Given the description of an element on the screen output the (x, y) to click on. 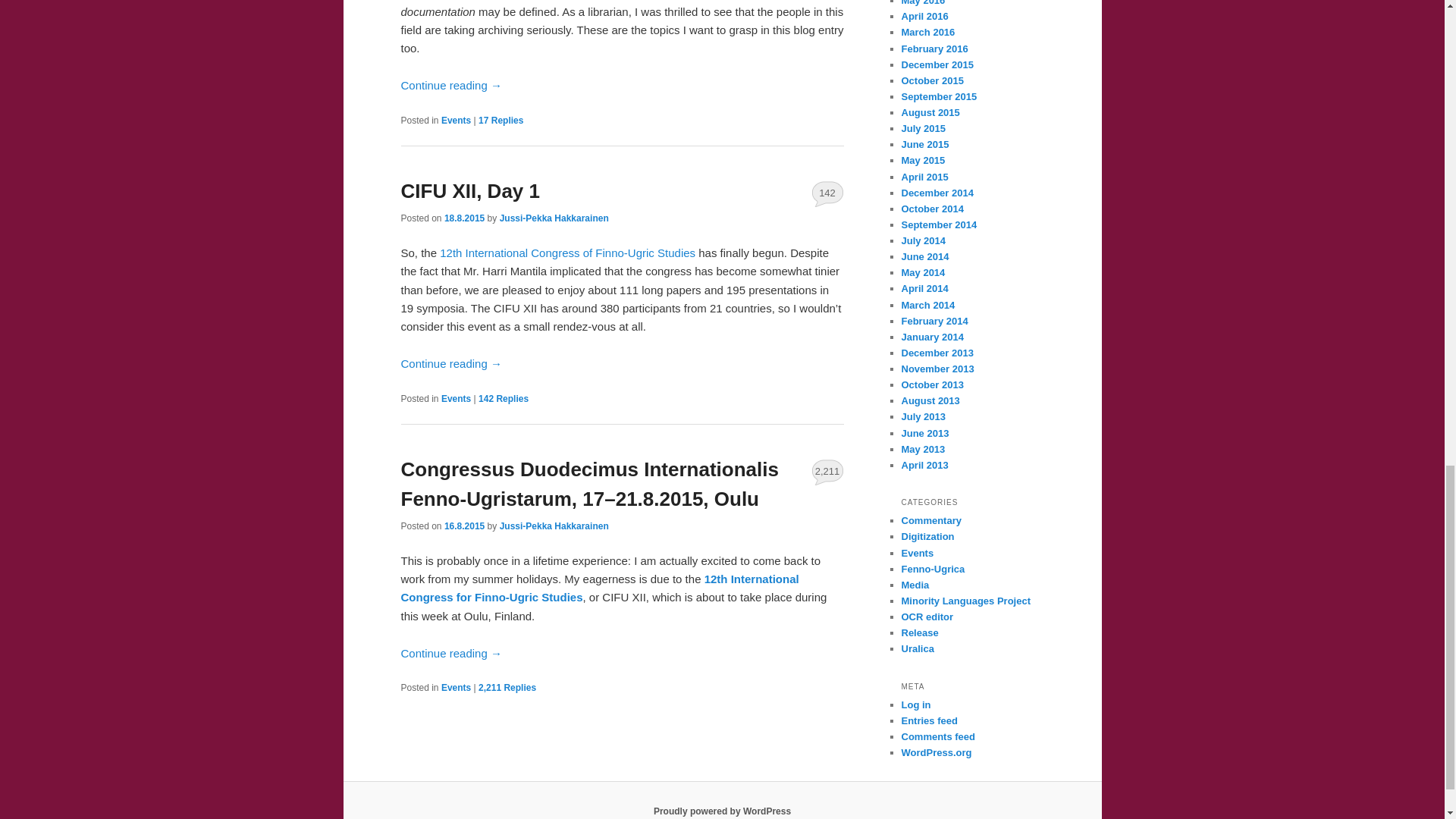
View all posts by Jussi-Pekka Hakkarainen (553, 525)
142 (827, 193)
18.8.2015 (464, 217)
Events (455, 120)
5.56 (464, 217)
17.22 (464, 525)
CIFU XII, Day 1 (470, 190)
Jussi-Pekka Hakkarainen (553, 217)
142 Replies (503, 398)
16.8.2015 (464, 525)
Events (455, 398)
17 Replies (500, 120)
12th International Congress of Finno-Ugric Studies (568, 252)
View all posts by Jussi-Pekka Hakkarainen (553, 217)
Semantic Personal Publishing Platform (721, 810)
